Given the description of an element on the screen output the (x, y) to click on. 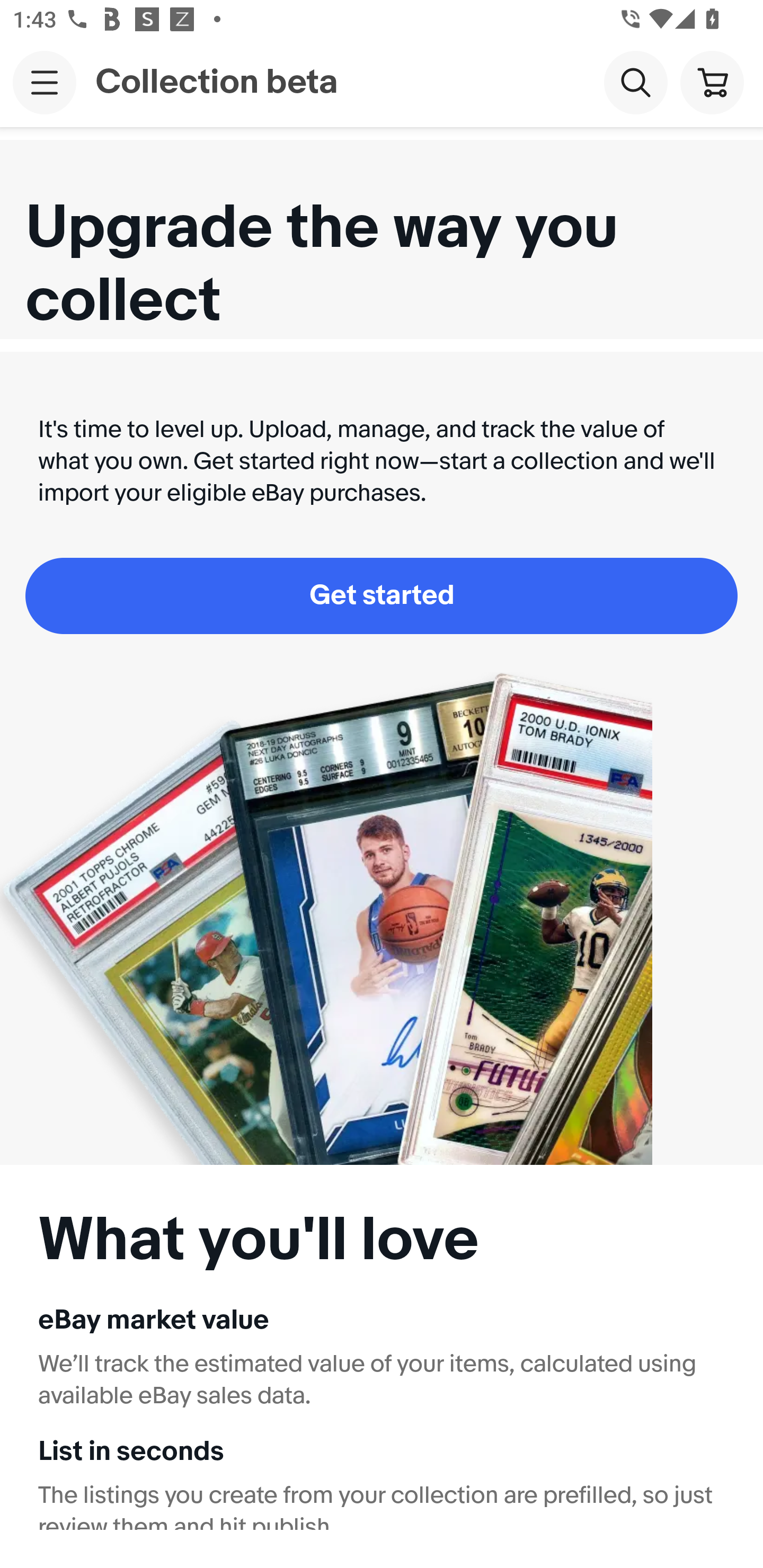
Main navigation, open (44, 82)
Search (635, 81)
Cart button shopping cart (711, 81)
Get started (381, 595)
